Given the description of an element on the screen output the (x, y) to click on. 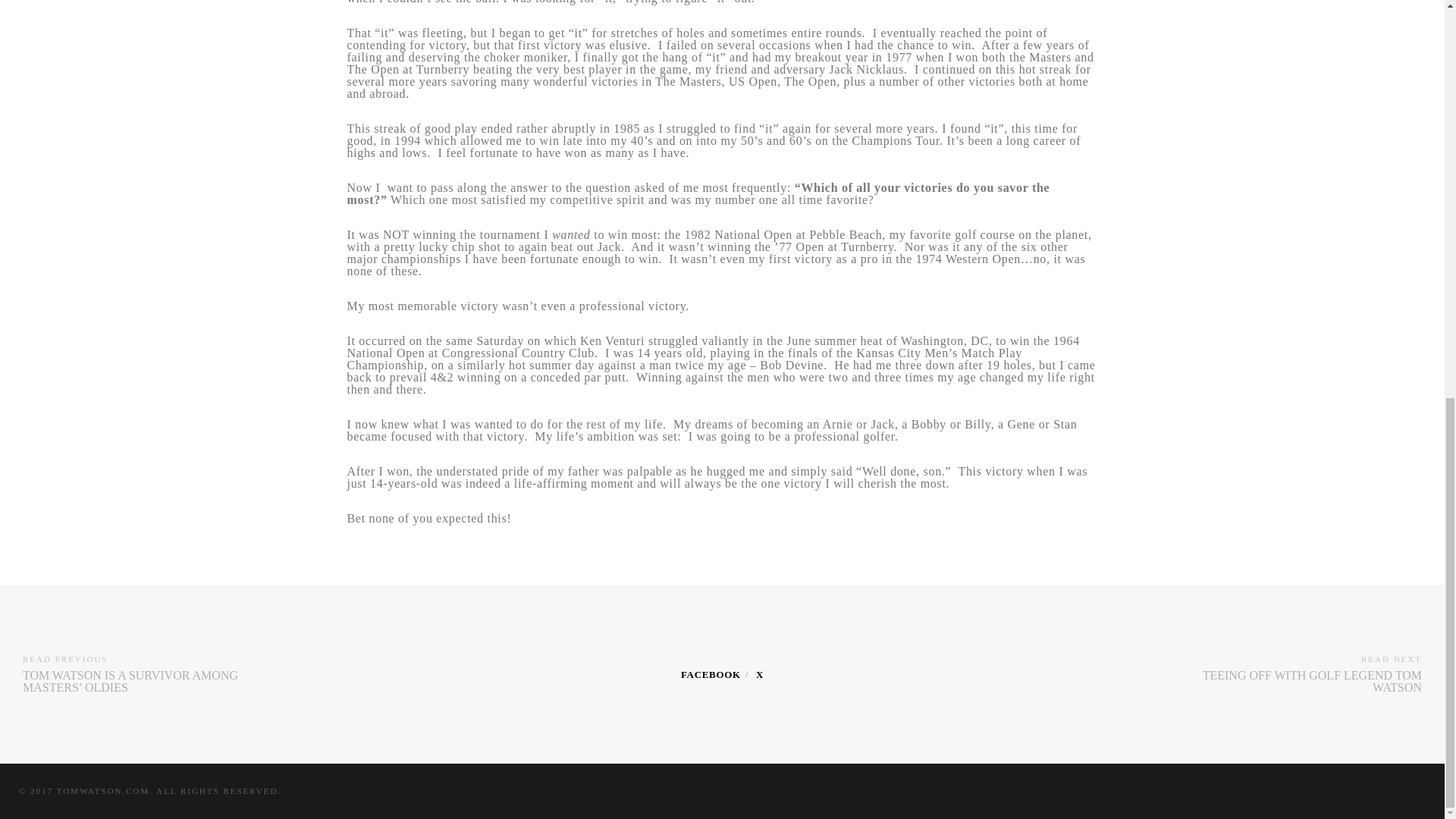
My Most Memorable Victory (711, 674)
FACEBOOK (711, 674)
